Given the description of an element on the screen output the (x, y) to click on. 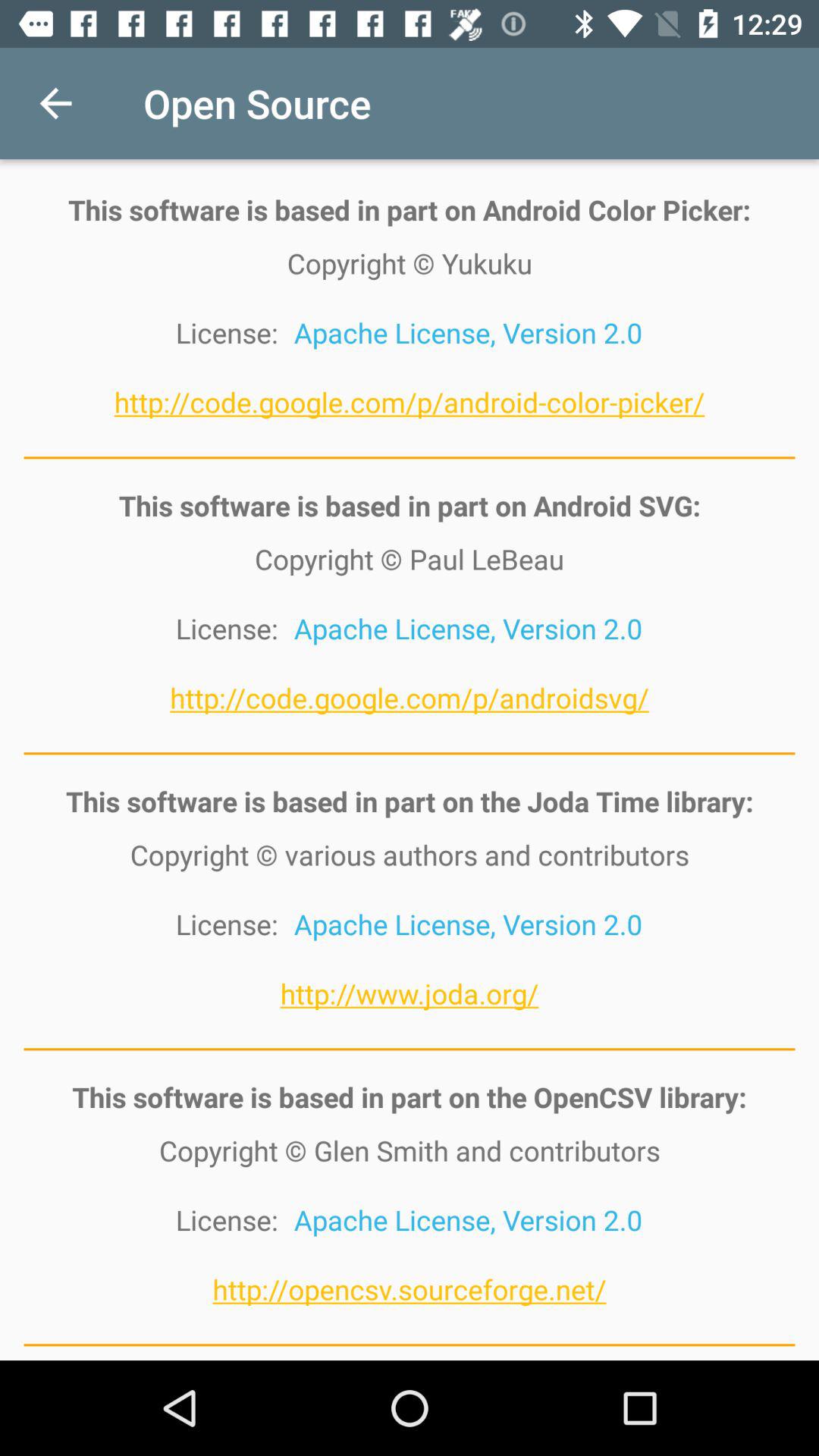
click the item to the left of the open source icon (55, 103)
